Given the description of an element on the screen output the (x, y) to click on. 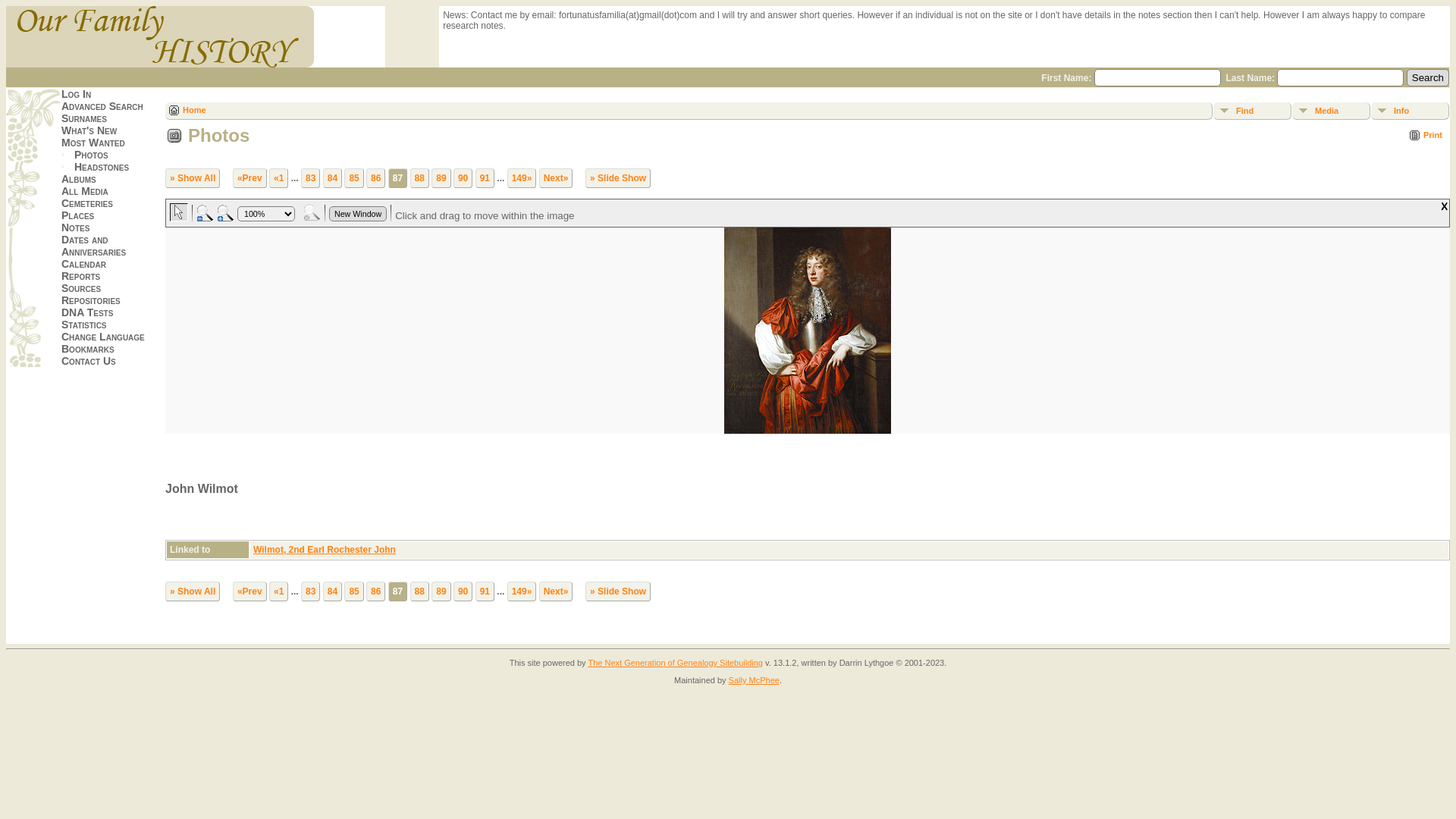
Home Element type: text (187, 110)
90 Element type: text (462, 178)
Reports Element type: text (80, 275)
Photos Element type: text (91, 154)
88 Element type: text (419, 178)
86 Element type: text (375, 178)
Cemeteries Element type: text (86, 203)
89 Element type: text (440, 591)
84 Element type: text (332, 178)
Headstones Element type: text (101, 166)
What's New Element type: text (88, 130)
Log In Element type: text (76, 93)
Print Element type: text (1425, 135)
Bookmarks Element type: text (87, 348)
Calendar Element type: text (83, 263)
85 Element type: text (353, 178)
83 Element type: text (310, 591)
Most Wanted Element type: text (93, 142)
Change Language Element type: text (102, 336)
91 Element type: text (484, 591)
Dates and Anniversaries Element type: text (93, 245)
Repositories Element type: text (90, 300)
Contact Us Element type: text (88, 360)
Sources Element type: text (80, 288)
DNA Tests Element type: text (86, 312)
Find Element type: text (1252, 110)
Advanced Search Element type: text (102, 106)
Statistics Element type: text (83, 324)
89 Element type: text (440, 178)
Info Element type: text (1410, 110)
All Media Element type: text (84, 191)
Search Element type: text (1427, 76)
Media Element type: text (1331, 110)
84 Element type: text (332, 591)
The Next Generation of Genealogy Sitebuilding Element type: text (674, 662)
Notes Element type: text (75, 227)
83 Element type: text (310, 178)
Places Element type: text (77, 215)
90 Element type: text (462, 591)
91 Element type: text (484, 178)
85 Element type: text (353, 591)
Sally McPhee Element type: text (753, 679)
Surnames Element type: text (83, 118)
Wilmot, 2nd Earl Rochester John Element type: text (324, 549)
Albums Element type: text (78, 178)
88 Element type: text (419, 591)
86 Element type: text (375, 591)
